Given the description of an element on the screen output the (x, y) to click on. 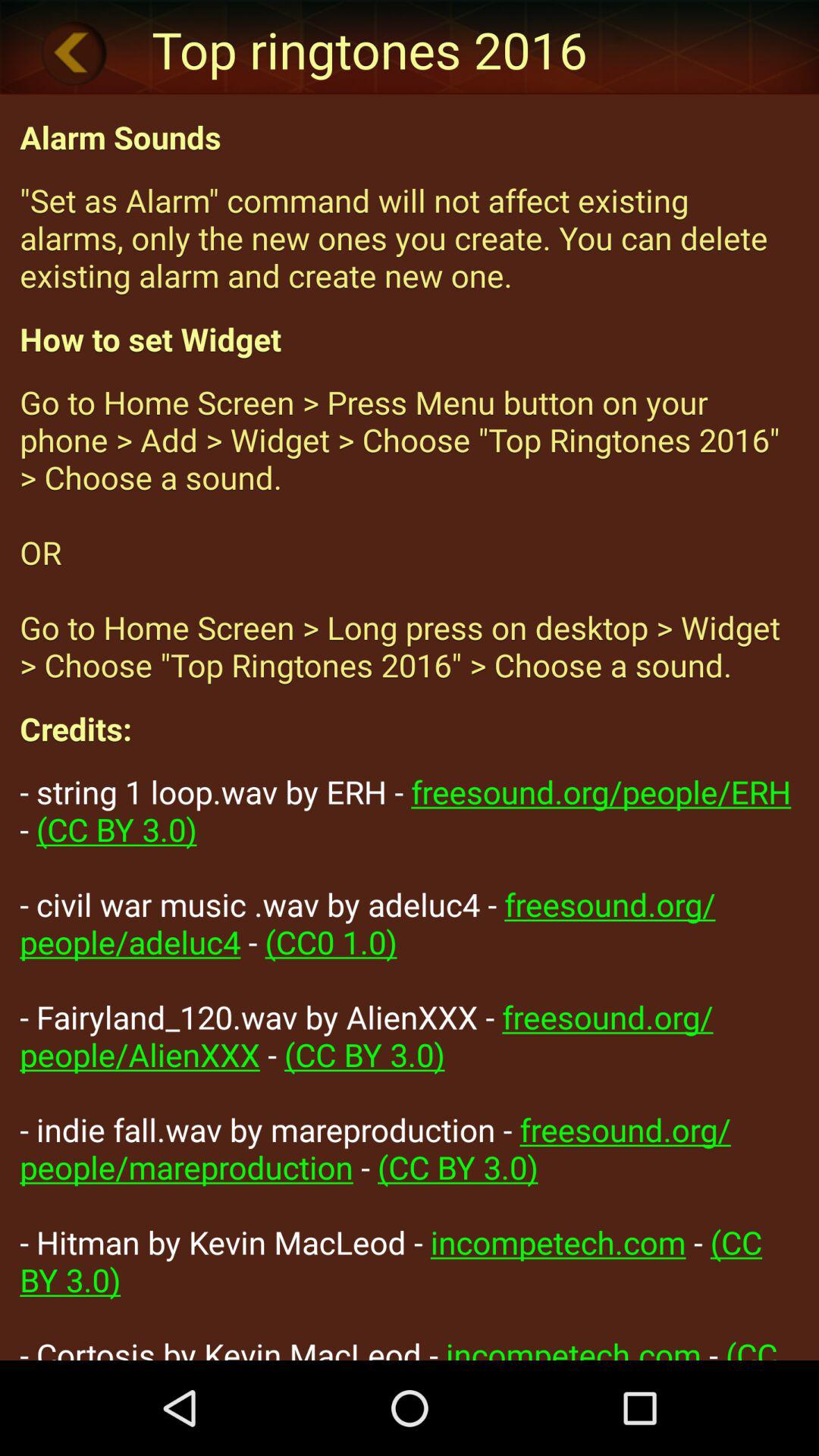
open icon above the alarm sounds icon (73, 52)
